Given the description of an element on the screen output the (x, y) to click on. 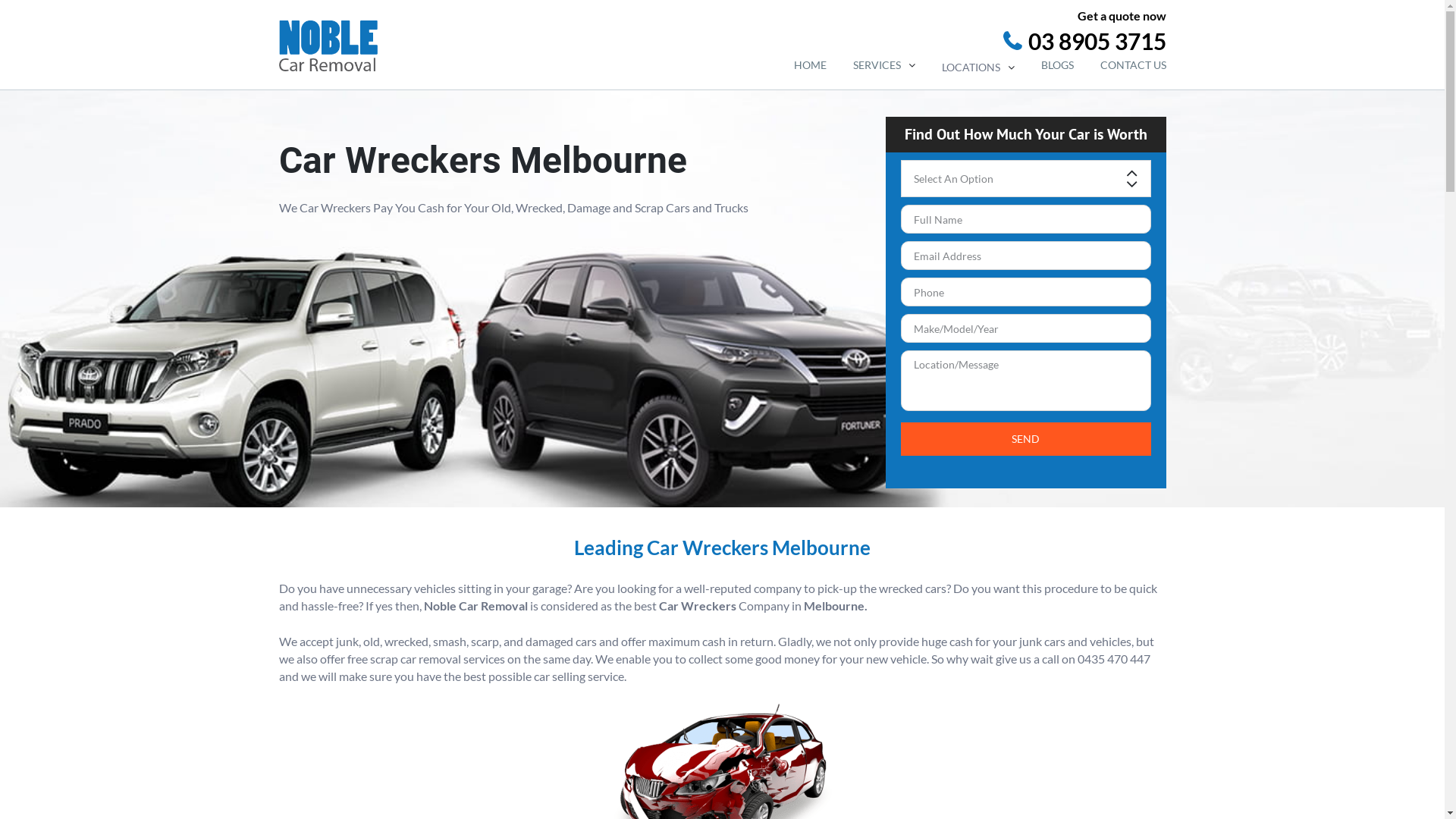
LOCATIONS Element type: text (977, 66)
CONTACT US Element type: text (1132, 64)
BLOGS Element type: text (1056, 64)
Send Element type: text (1025, 438)
HOME Element type: text (809, 64)
SERVICES Element type: text (883, 64)
03 8905 3715 Element type: text (966, 40)
